Given the description of an element on the screen output the (x, y) to click on. 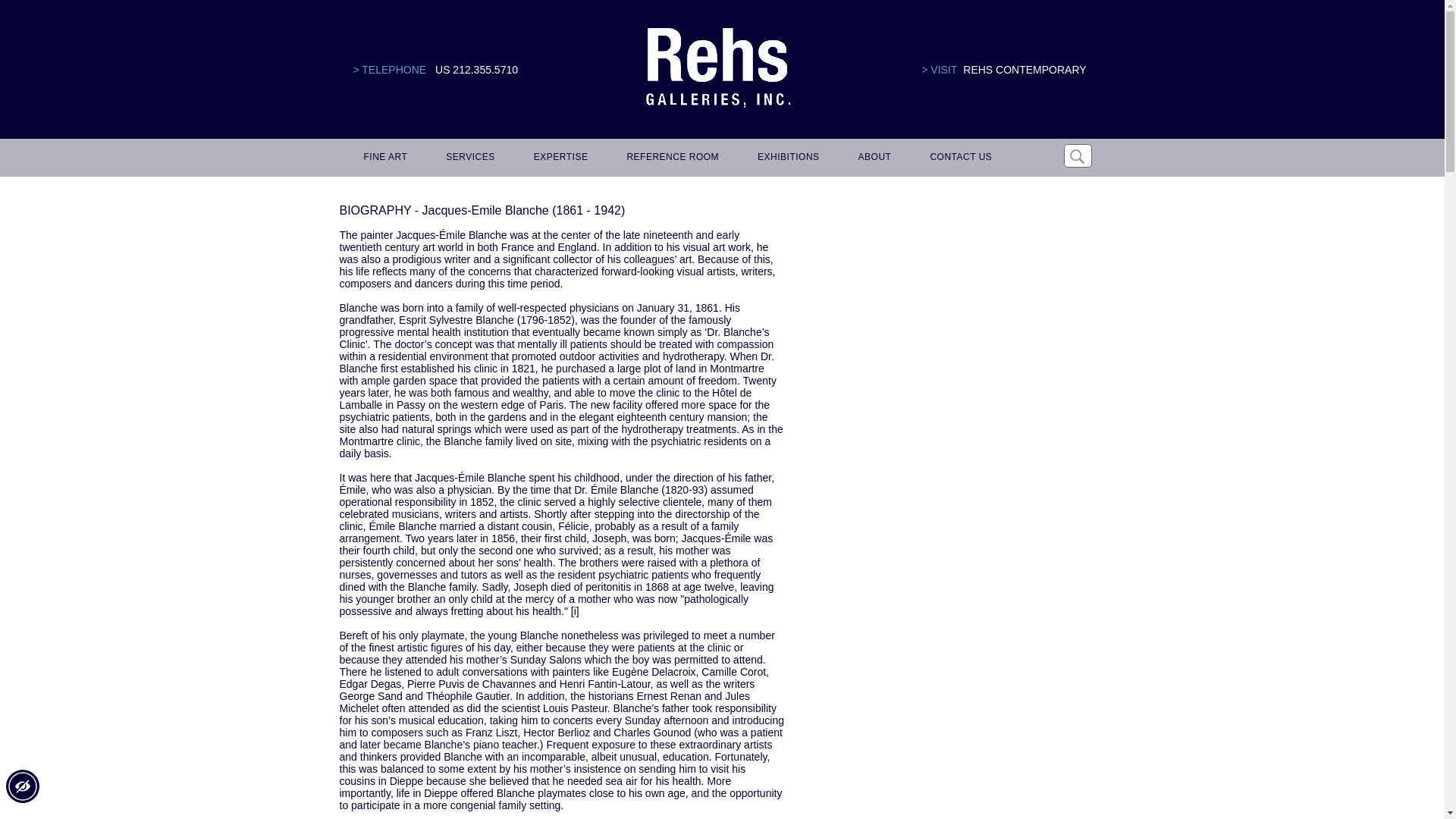
FINE ART (383, 157)
Logo (717, 67)
REHS CONTEMPORARY (1024, 69)
REFERENCE ROOM (670, 157)
SERVICES (467, 157)
Accessibility Menu (22, 786)
EXHIBITIONS (785, 157)
ABOUT (872, 157)
EXPERTISE (558, 157)
CONTACT US (957, 157)
